Given the description of an element on the screen output the (x, y) to click on. 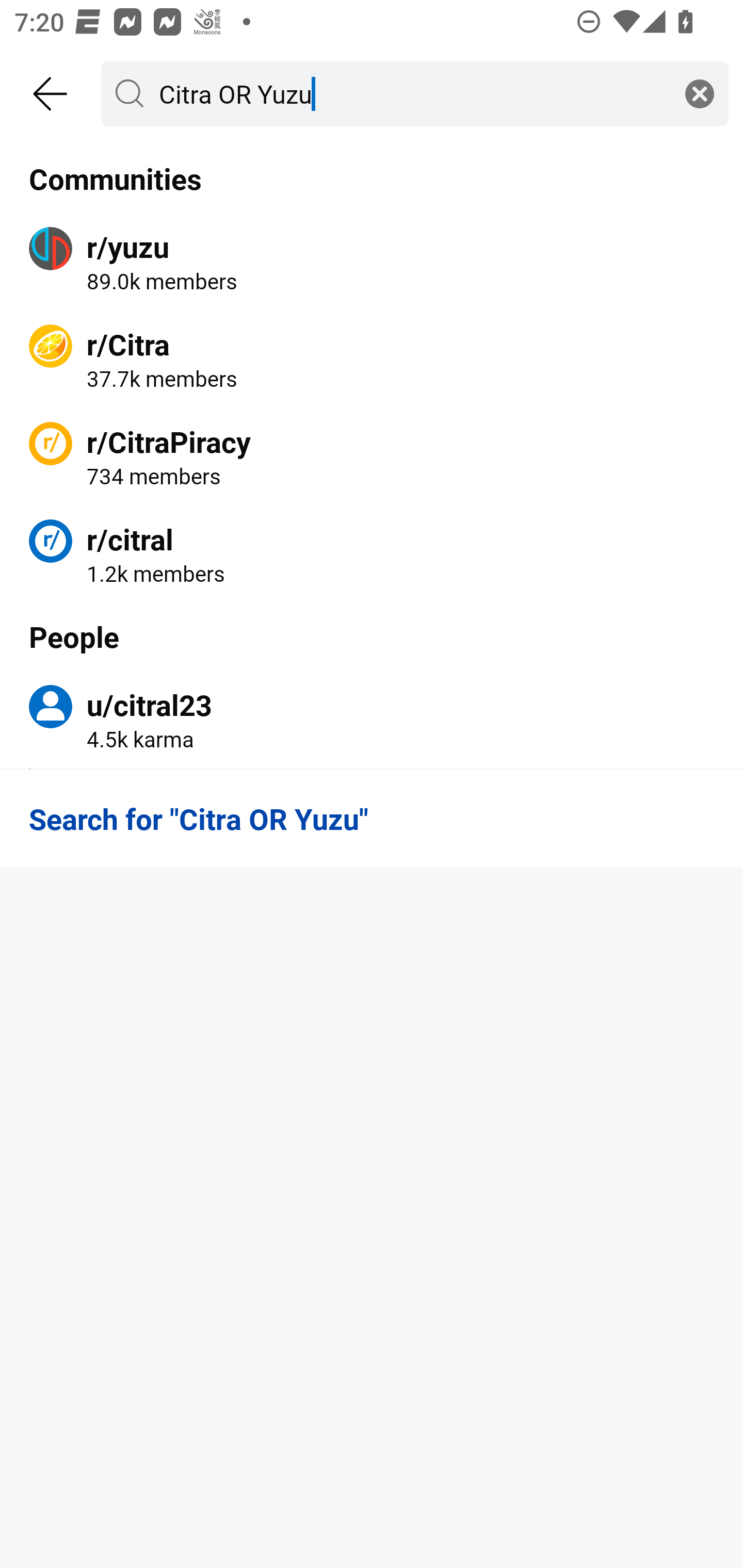
Back (50, 93)
Citra OR Yuzu (410, 93)
Clear search (699, 93)
r/yuzu 89.0k members 89.0 thousand members (371, 261)
r/Citra 37.7k members 37.7 thousand members (371, 358)
r/CitraPiracy 734 members 734 members (371, 455)
r/citral 1.2k members 1.2 thousand members (371, 553)
u/citral23 4.5k karma 4.5 thousand karma (371, 719)
Search for "Citra OR Yuzu" (371, 818)
